Given the description of an element on the screen output the (x, y) to click on. 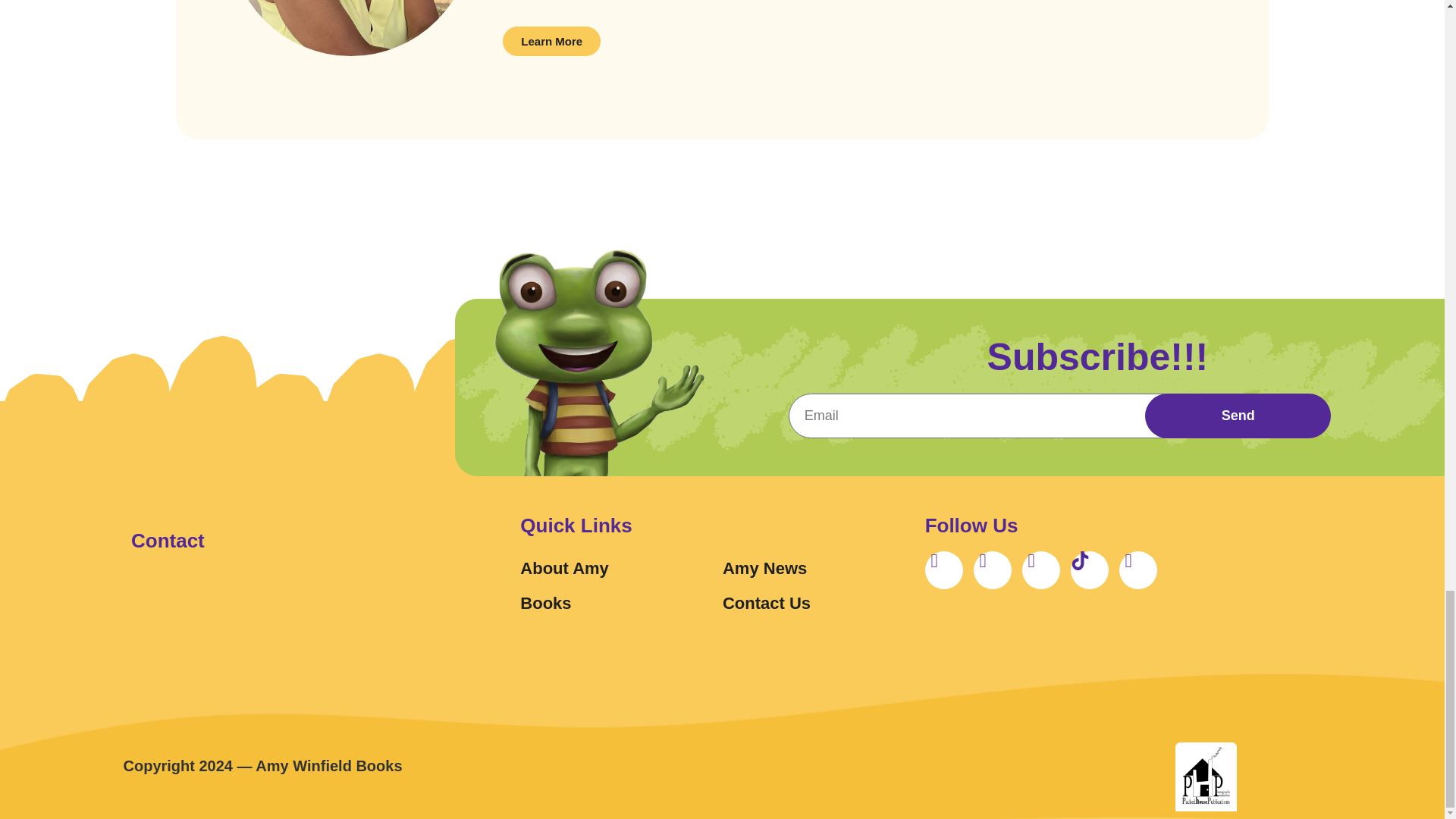
Books (620, 603)
Contact Us (823, 603)
Learn More (550, 41)
About Amy (620, 568)
Amy News (823, 568)
Send (1237, 415)
